Given the description of an element on the screen output the (x, y) to click on. 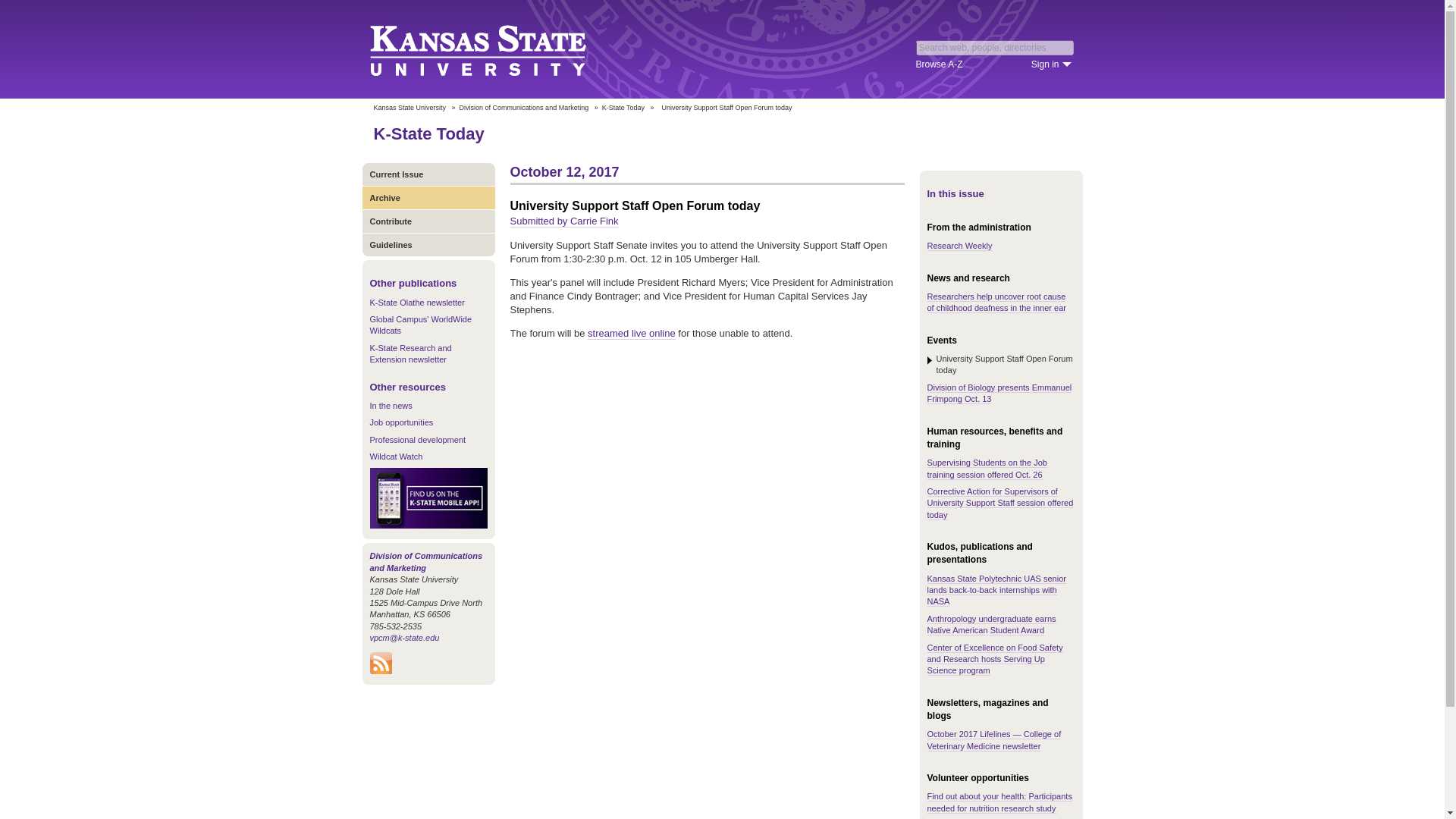
Search web, people, directories (994, 47)
Submitted by Carrie Fink (563, 221)
K-State Olathe newsletter (416, 302)
Division of Biology presents Emmanuel Frimpong Oct. 13 (998, 393)
Current Issue (428, 173)
Wildcat Watch (396, 456)
Professional development (417, 439)
Job opportunities (401, 421)
K-State Today (427, 133)
Global Campus' WorldWide Wildcats (420, 324)
